Given the description of an element on the screen output the (x, y) to click on. 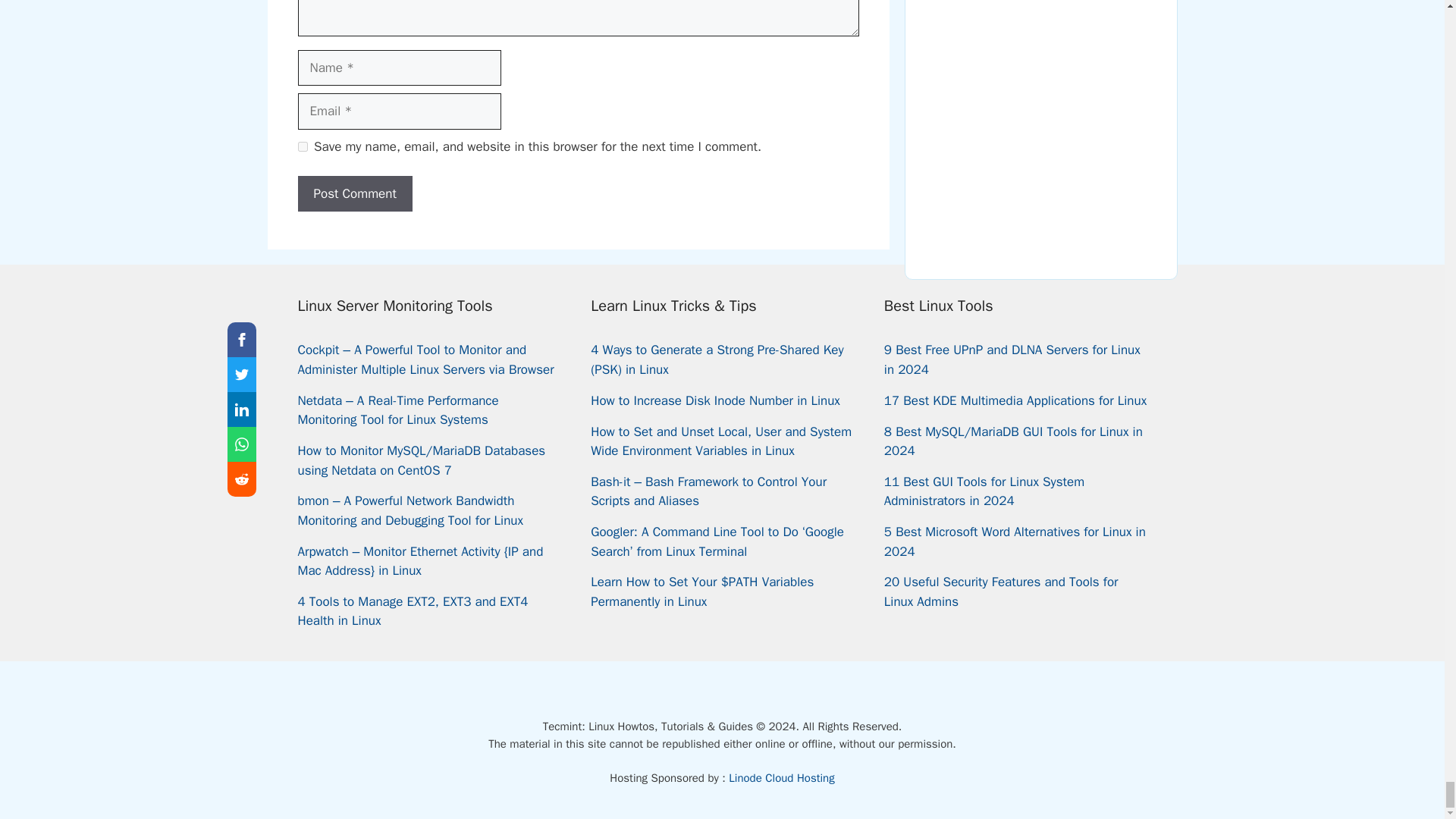
yes (302, 146)
Post Comment (354, 194)
